Given the description of an element on the screen output the (x, y) to click on. 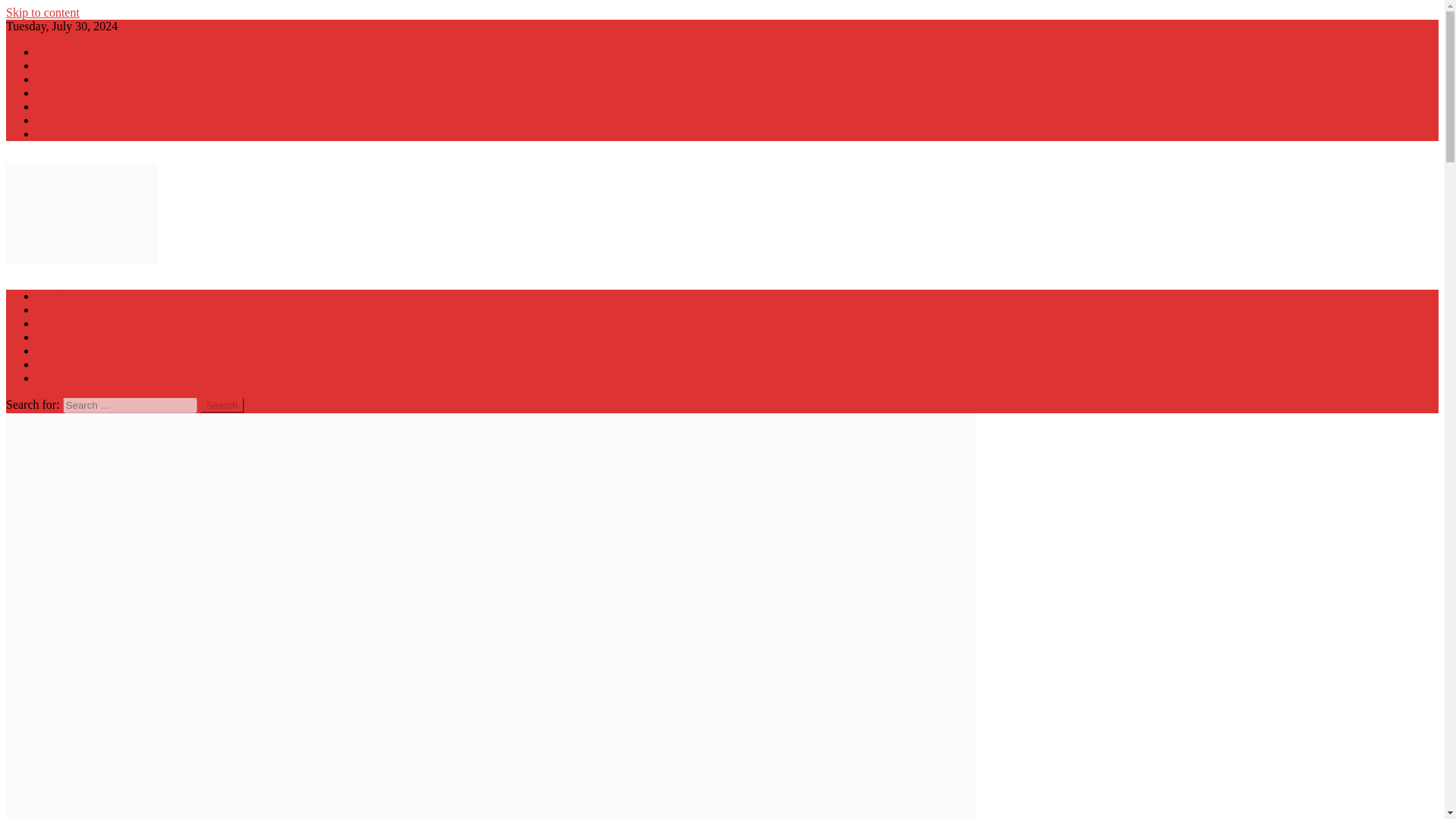
Entertainment (70, 336)
Business (58, 51)
Health (52, 377)
Press Release (69, 364)
National (57, 309)
Press Release (69, 119)
Search (222, 405)
News Track Bhopal (53, 295)
Lifestyle (58, 323)
Health (52, 133)
Search (222, 405)
Lifestyle (58, 78)
Skip to content (42, 11)
Search (222, 405)
Education (60, 106)
